Given the description of an element on the screen output the (x, y) to click on. 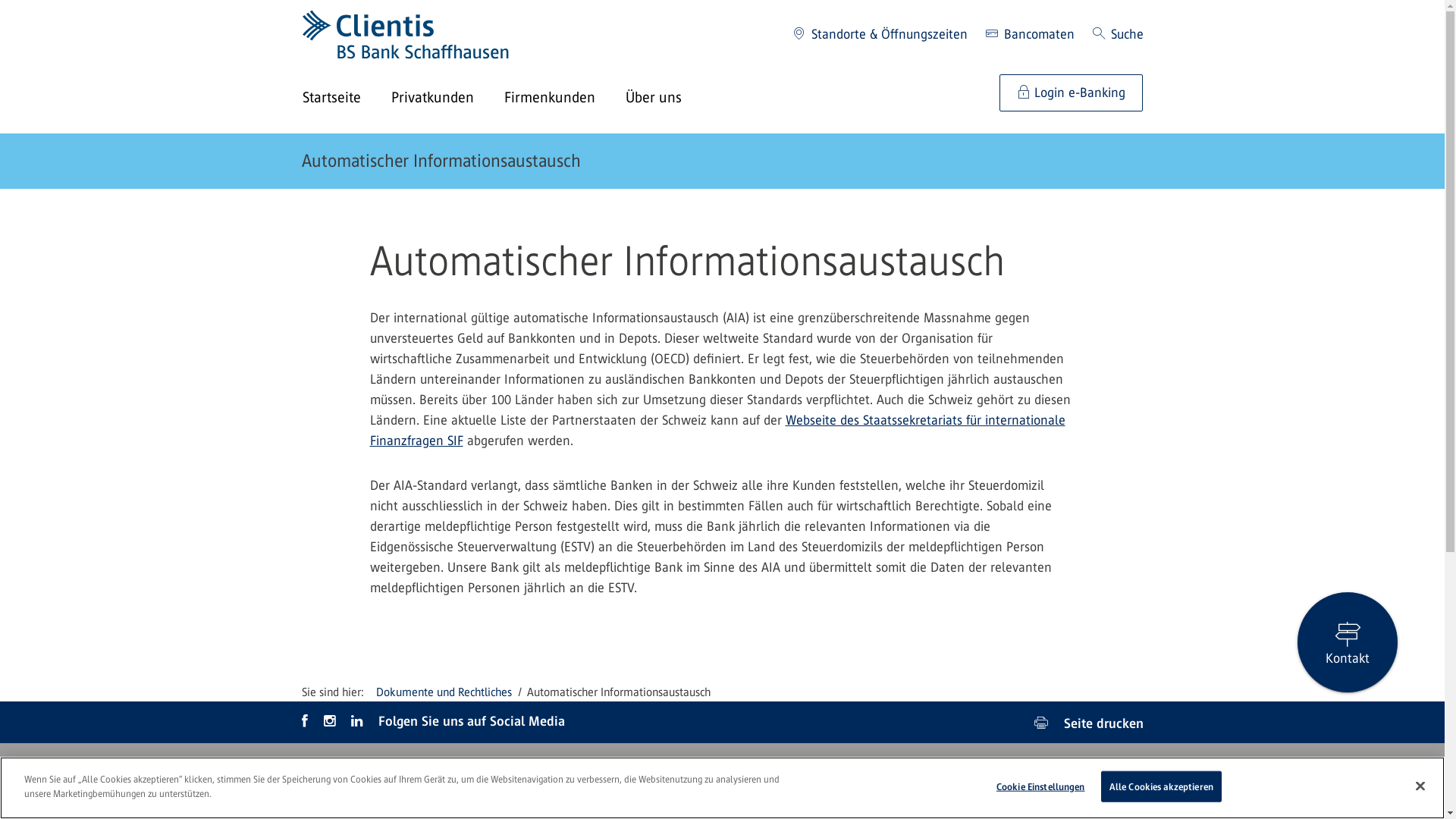
Firmenkunden Element type: text (563, 98)
Dokumente und Rechtliches Element type: text (443, 691)
Bancomaten Element type: text (1029, 34)
Startseite Element type: text (345, 98)
Seite drucken Element type: text (1088, 722)
Alle Cookies akzeptieren Element type: text (1161, 787)
Automatischer Informationsaustausch Element type: text (440, 160)
Suche Element type: text (1117, 34)
Privatkunden Element type: text (447, 98)
Cookie Einstellungen Element type: text (1040, 786)
Login e-Banking Element type: text (1070, 92)
Kontakt Element type: text (1347, 642)
